Given the description of an element on the screen output the (x, y) to click on. 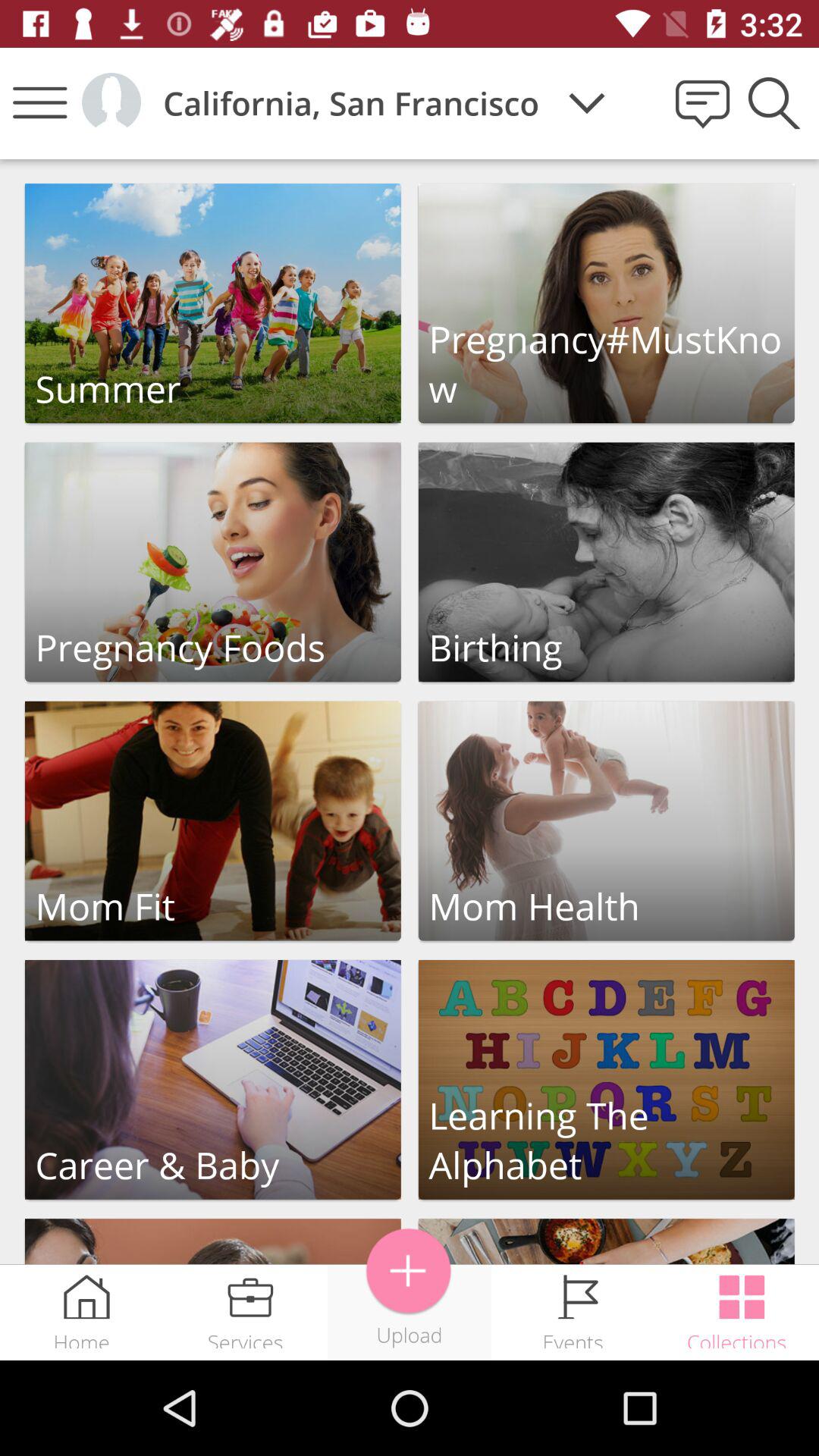
more pregnancy and child care tips (606, 1241)
